Given the description of an element on the screen output the (x, y) to click on. 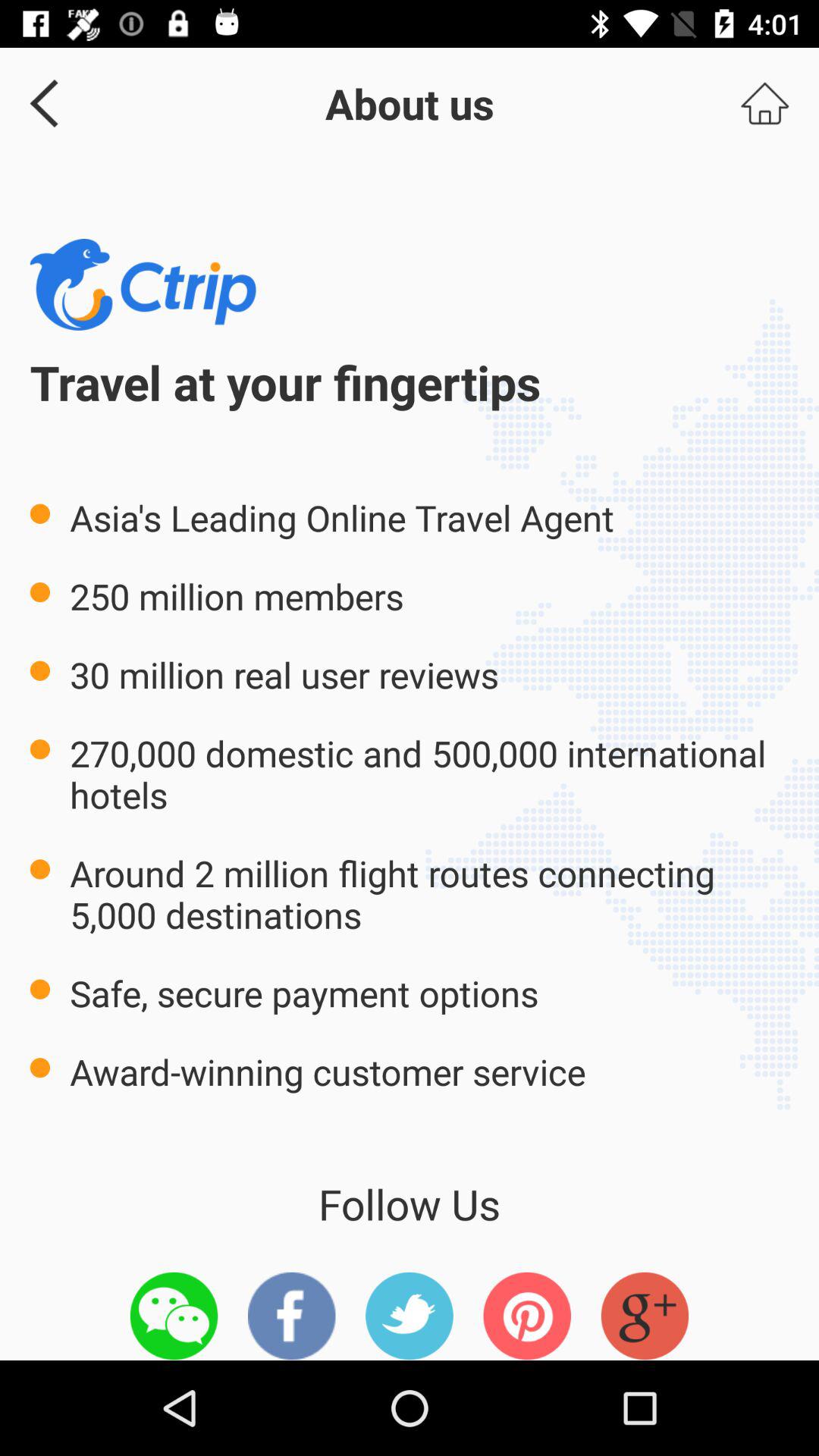
pinterest follow up (527, 1315)
